Given the description of an element on the screen output the (x, y) to click on. 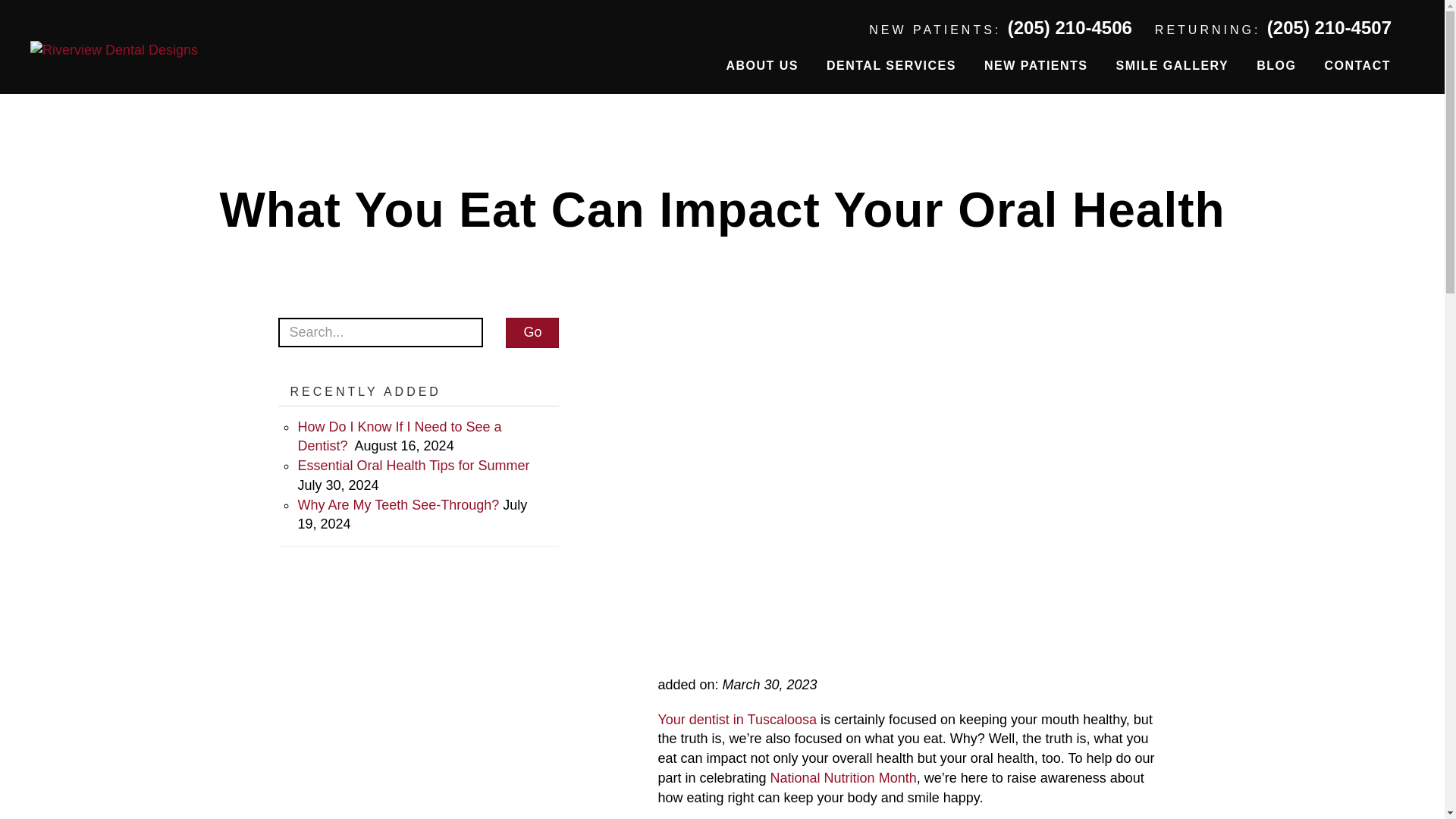
ABOUT US (761, 65)
SMILE GALLERY (1172, 65)
CONTACT (1357, 65)
BLOG (1275, 65)
NEW PATIENTS (1036, 65)
DENTAL SERVICES (890, 65)
